Given the description of an element on the screen output the (x, y) to click on. 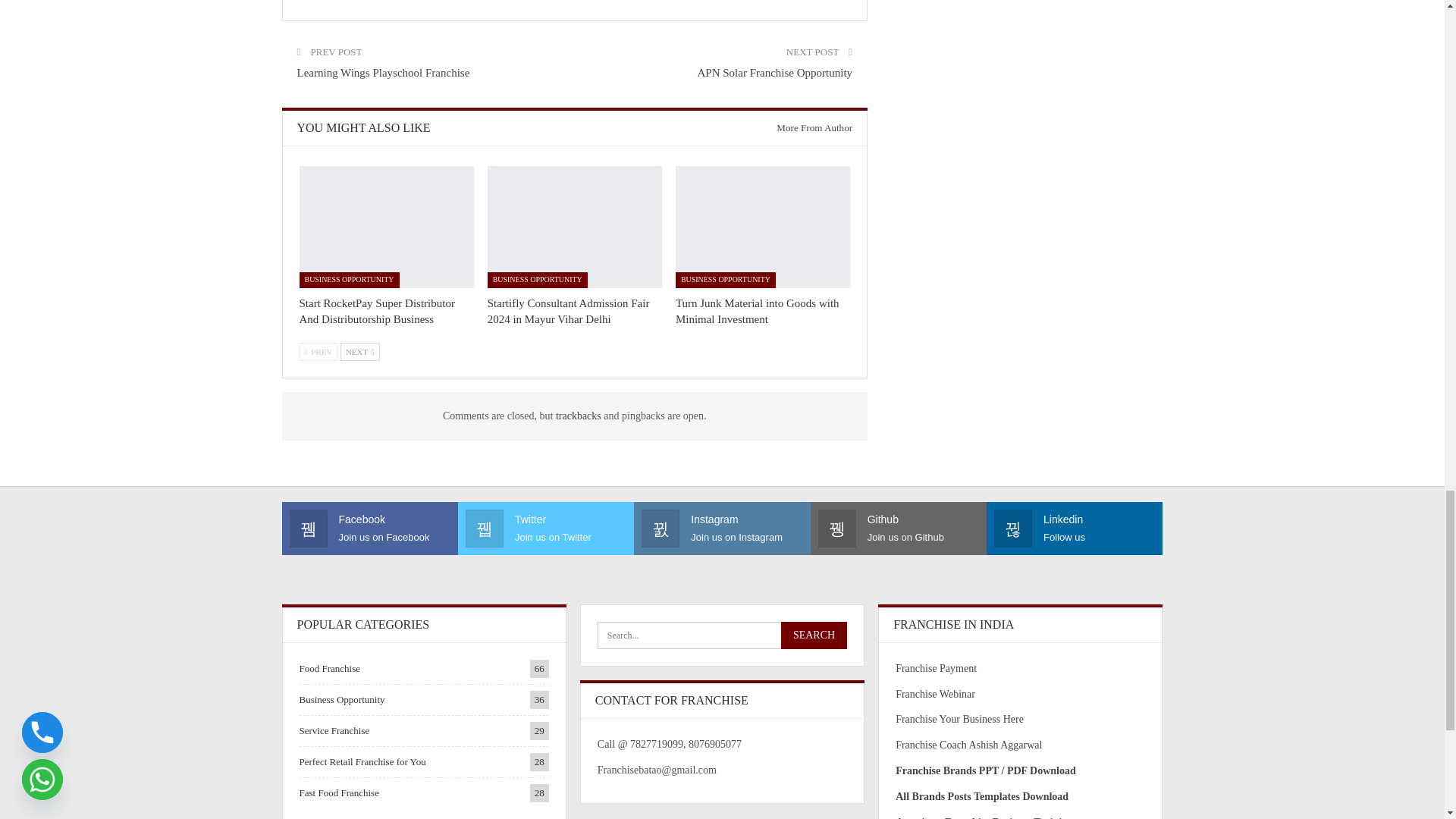
Next (360, 352)
Turn Junk Material into Goods with Minimal Investment (762, 227)
Search (813, 635)
Search (813, 635)
Search for: (721, 635)
Turn Junk Material into Goods with Minimal Investment (757, 311)
Previous (317, 352)
